Given the description of an element on the screen output the (x, y) to click on. 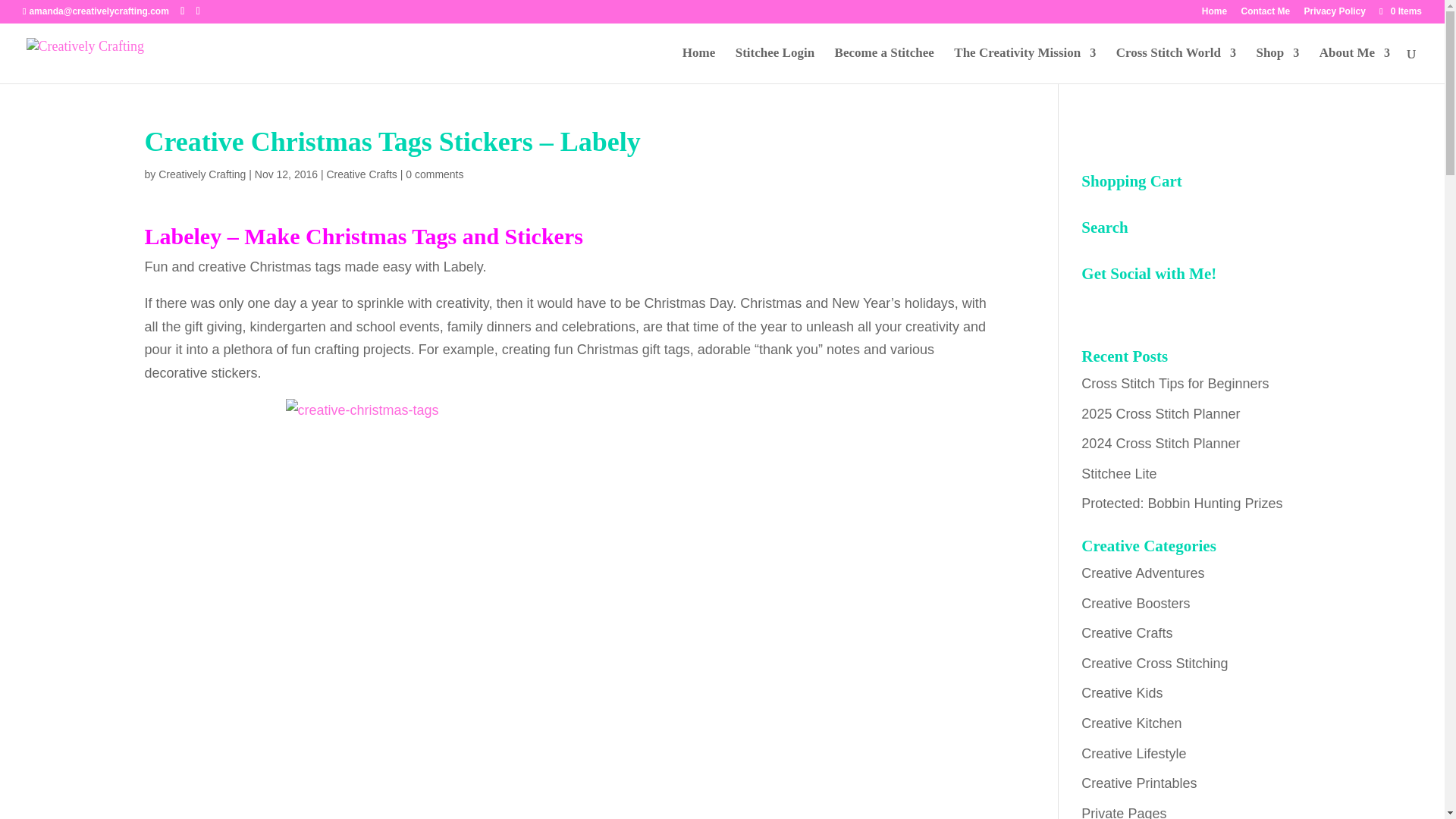
0 comments (434, 174)
Posts by Creatively Crafting (202, 174)
0 Items (1399, 10)
Contact Me (1265, 14)
Cross Stitch World (1176, 65)
Become a Stitchee (884, 65)
The Creativity Mission (1024, 65)
About Me (1354, 65)
Shop (1276, 65)
Creatively Crafting (202, 174)
